Given the description of an element on the screen output the (x, y) to click on. 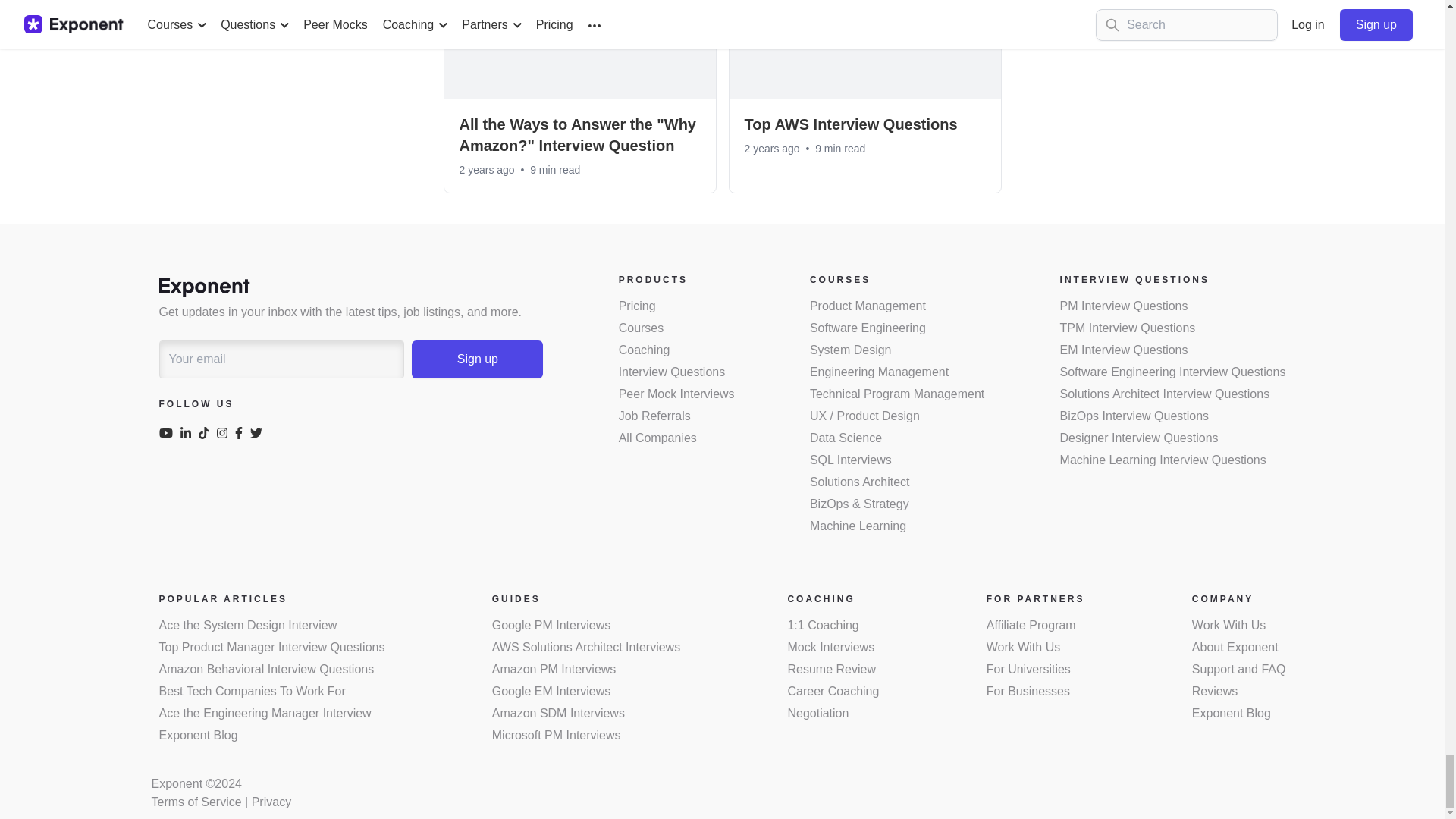
Follow Exponent on LinkedIn (189, 434)
Follow Exponent on Instagram (225, 434)
Subscribe to Exponent on Youtube (169, 434)
Follow Exponent on Twitter (259, 434)
Follow Exponent on TikTok (207, 434)
